Given the description of an element on the screen output the (x, y) to click on. 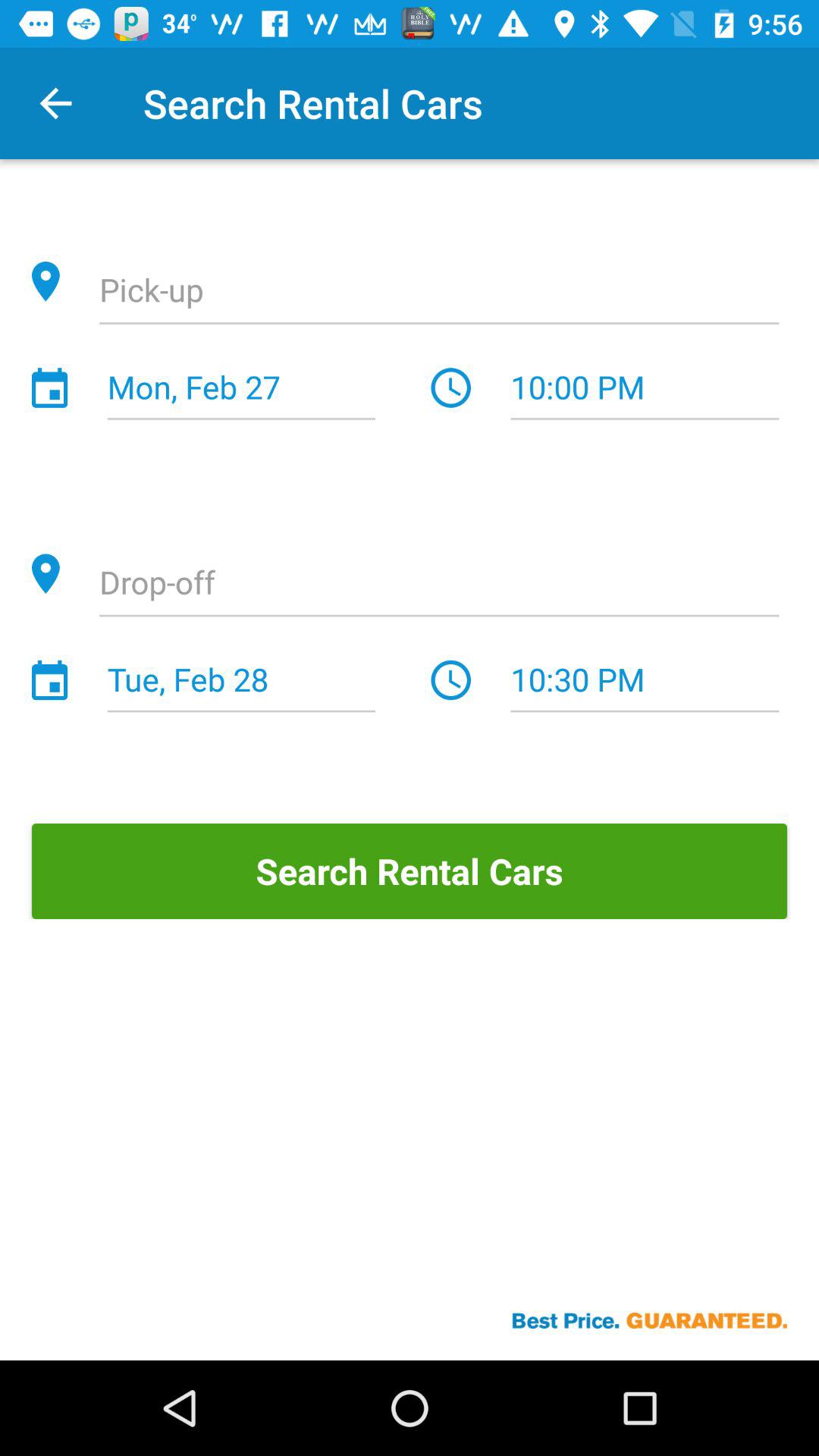
go to previous (439, 584)
